Given the description of an element on the screen output the (x, y) to click on. 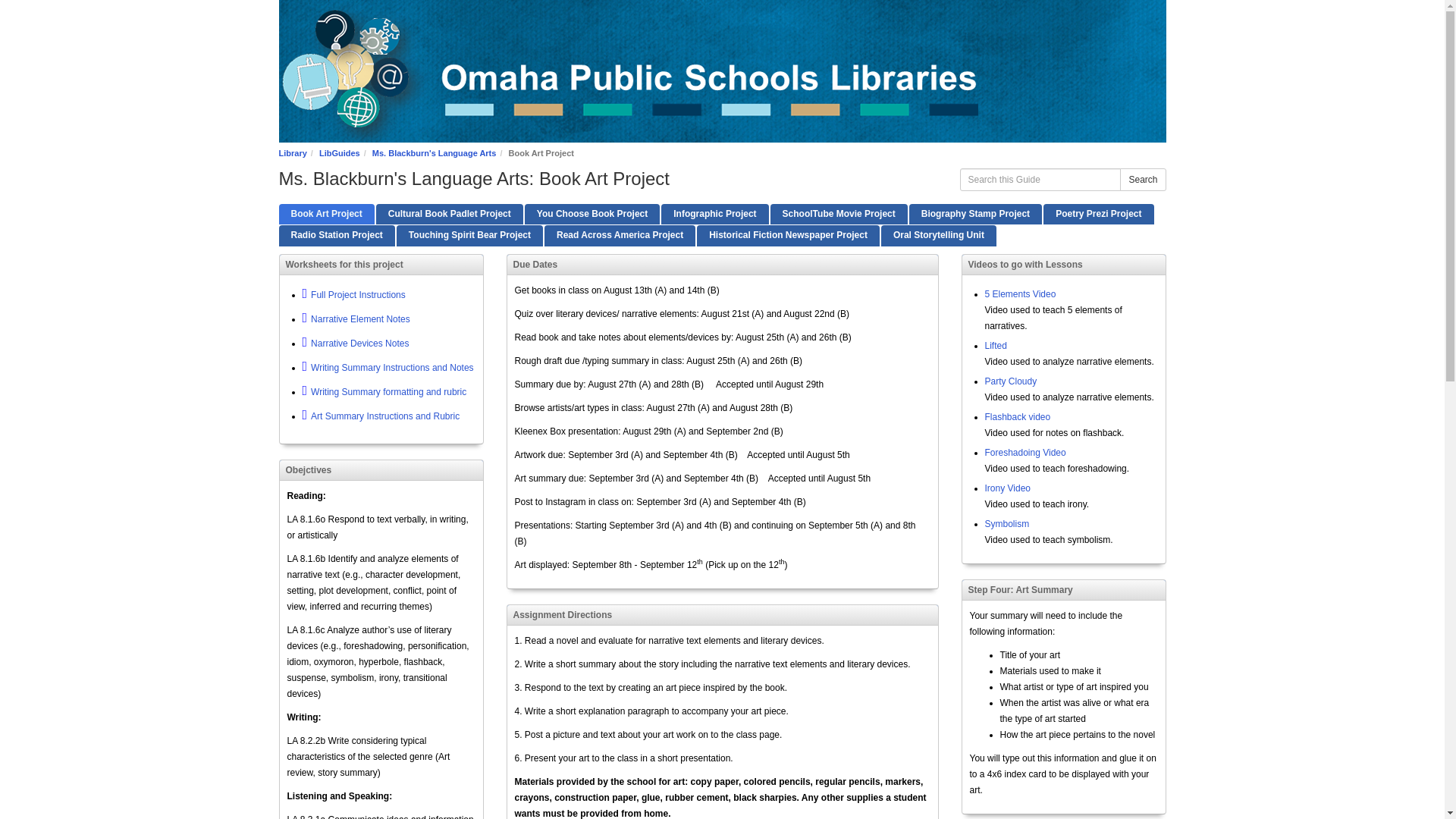
Irony Video (1007, 488)
Historical Fiction Newspaper Project (788, 235)
Read Across America Project (619, 235)
Lifted (995, 345)
Biography Stamp Project (975, 213)
Party Cloudy (1010, 380)
Flashback video (1016, 416)
Oral Storytelling Unit (937, 235)
Poetry Prezi Project (1098, 213)
SchoolTube Movie Project (838, 213)
